Given the description of an element on the screen output the (x, y) to click on. 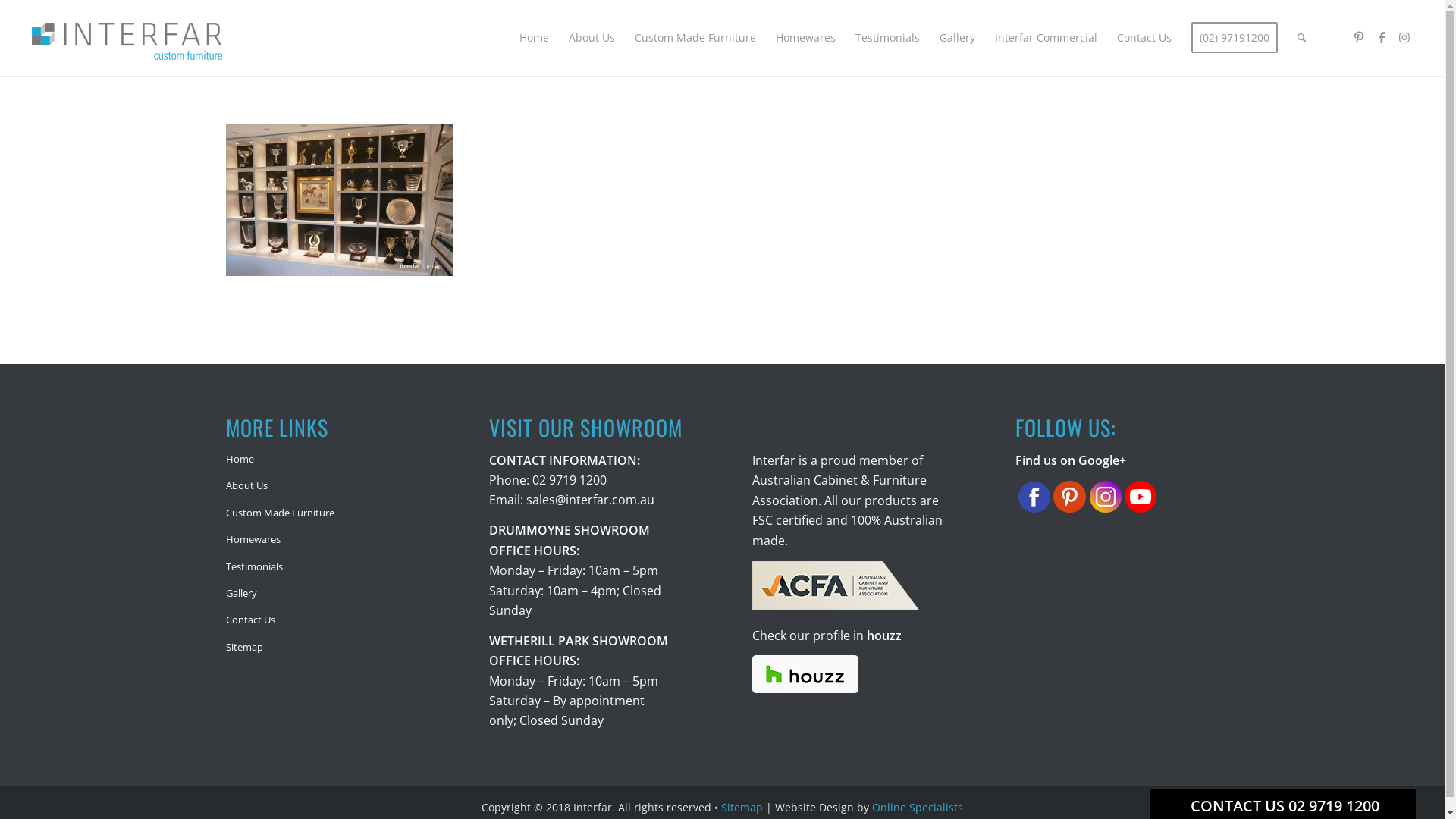
Interfar Commercial Element type: text (1046, 37)
Custom Made Furniture Element type: text (694, 37)
(02) 97191200 Element type: text (1234, 37)
Online Specialists Element type: text (917, 807)
Contact Us Element type: text (1144, 37)
Testimonials Element type: text (887, 37)
Home Element type: text (533, 37)
  Element type: text (1138, 498)
Custom Made Furniture Element type: text (327, 512)
Home Element type: text (327, 458)
Sitemap Element type: text (327, 646)
Homewares Element type: text (805, 37)
Sitemap Element type: text (741, 807)
Contact Us Element type: text (327, 619)
Testimonials Element type: text (327, 566)
About Us Element type: text (591, 37)
About Us Element type: text (327, 485)
Find us on Google+ Element type: text (1070, 459)
Gallery Element type: text (327, 593)
Gallery Element type: text (957, 37)
Homewares Element type: text (327, 539)
